Given the description of an element on the screen output the (x, y) to click on. 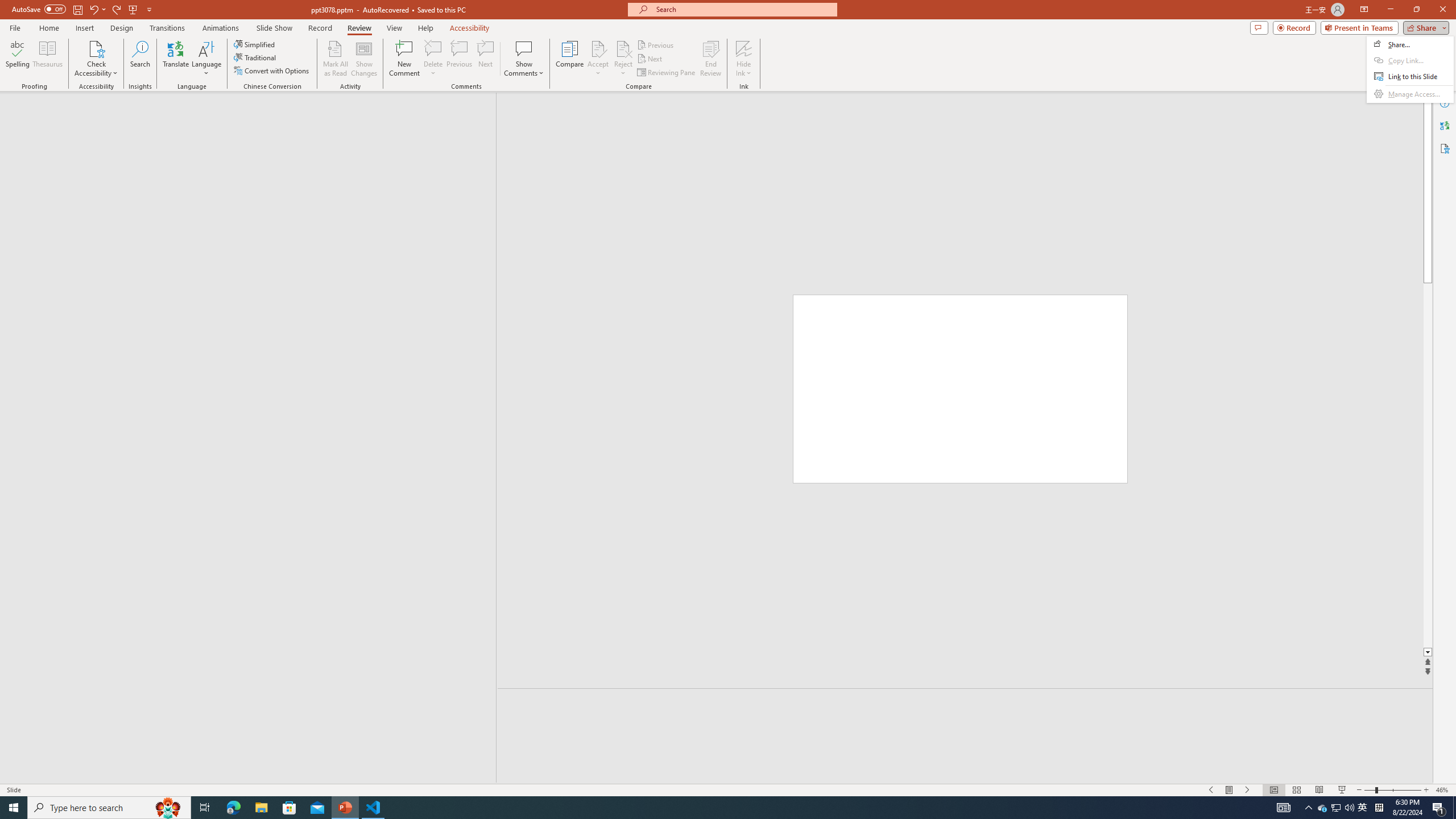
Slide Show Next On (1247, 790)
Search (140, 58)
Accessibility (1444, 147)
Microsoft search (742, 9)
Language (206, 58)
Reviewing Pane (666, 72)
New Comment (403, 58)
Reject (622, 58)
Show Comments (524, 58)
